Given the description of an element on the screen output the (x, y) to click on. 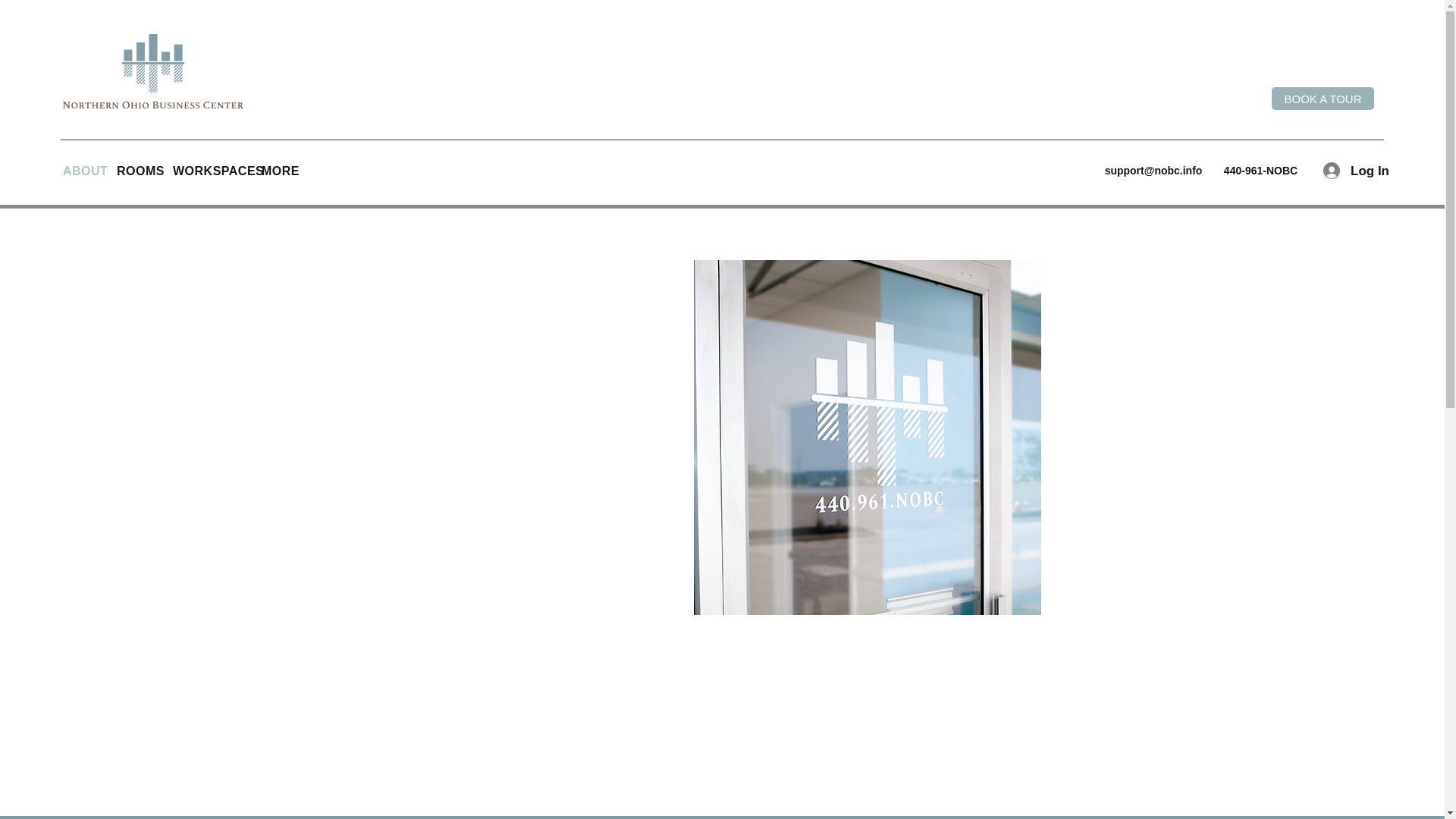
ABOUT (82, 170)
ROOMS (137, 170)
Log In (1343, 171)
BOOK A TOUR (1322, 97)
440-961-NOBC (1260, 170)
WORKSPACES (209, 170)
